Given the description of an element on the screen output the (x, y) to click on. 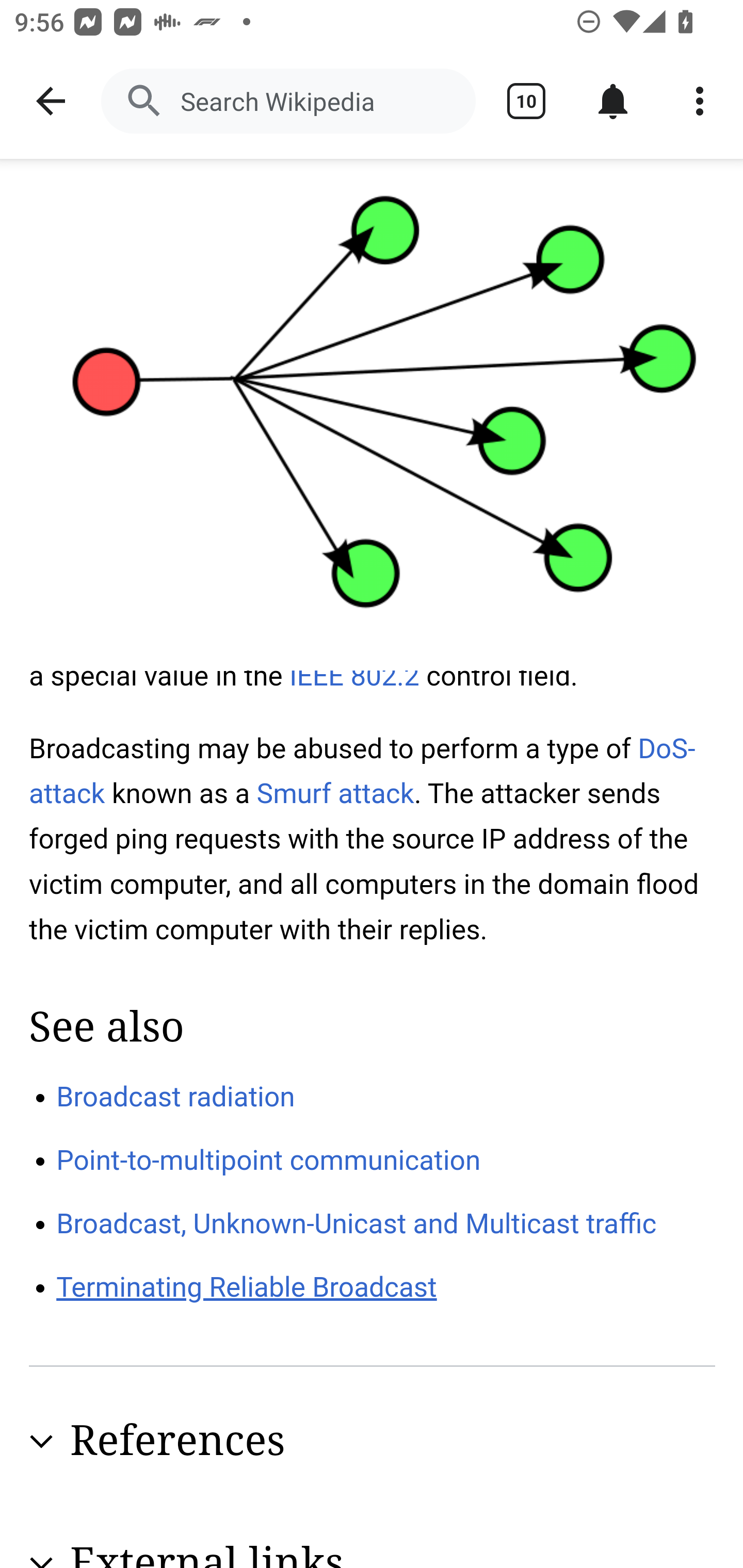
Show tabs 10 (525, 100)
Notifications (612, 100)
Navigate up (50, 101)
More options (699, 101)
Search Wikipedia (288, 100)
Image: Broadcasting (networking) (371, 414)
DoS-attack (362, 770)
Smurf attack (335, 793)
Broadcast radiation (175, 1095)
Point-to-multipoint communication (268, 1160)
Broadcast, Unknown-Unicast and Multicast traffic (356, 1222)
Terminating Reliable Broadcast (246, 1287)
Expand section References (372, 1441)
Expand section (41, 1441)
